Given the description of an element on the screen output the (x, y) to click on. 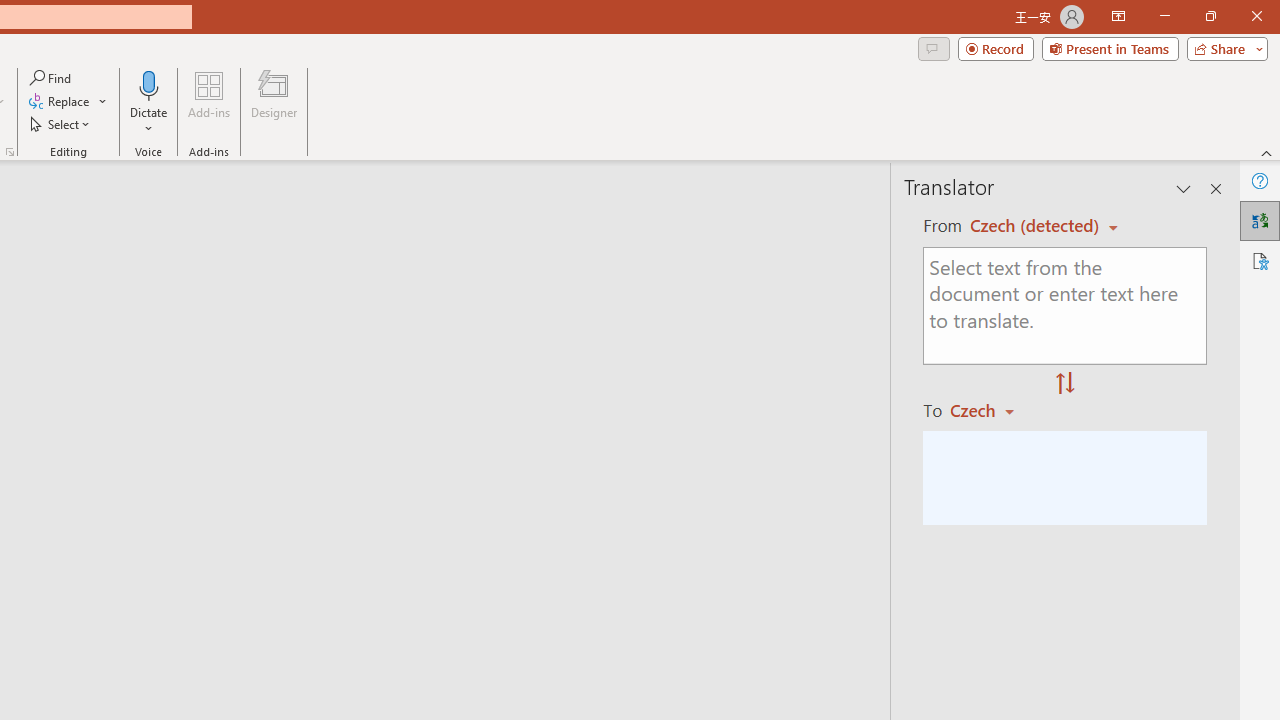
Close (1256, 16)
